Given the description of an element on the screen output the (x, y) to click on. 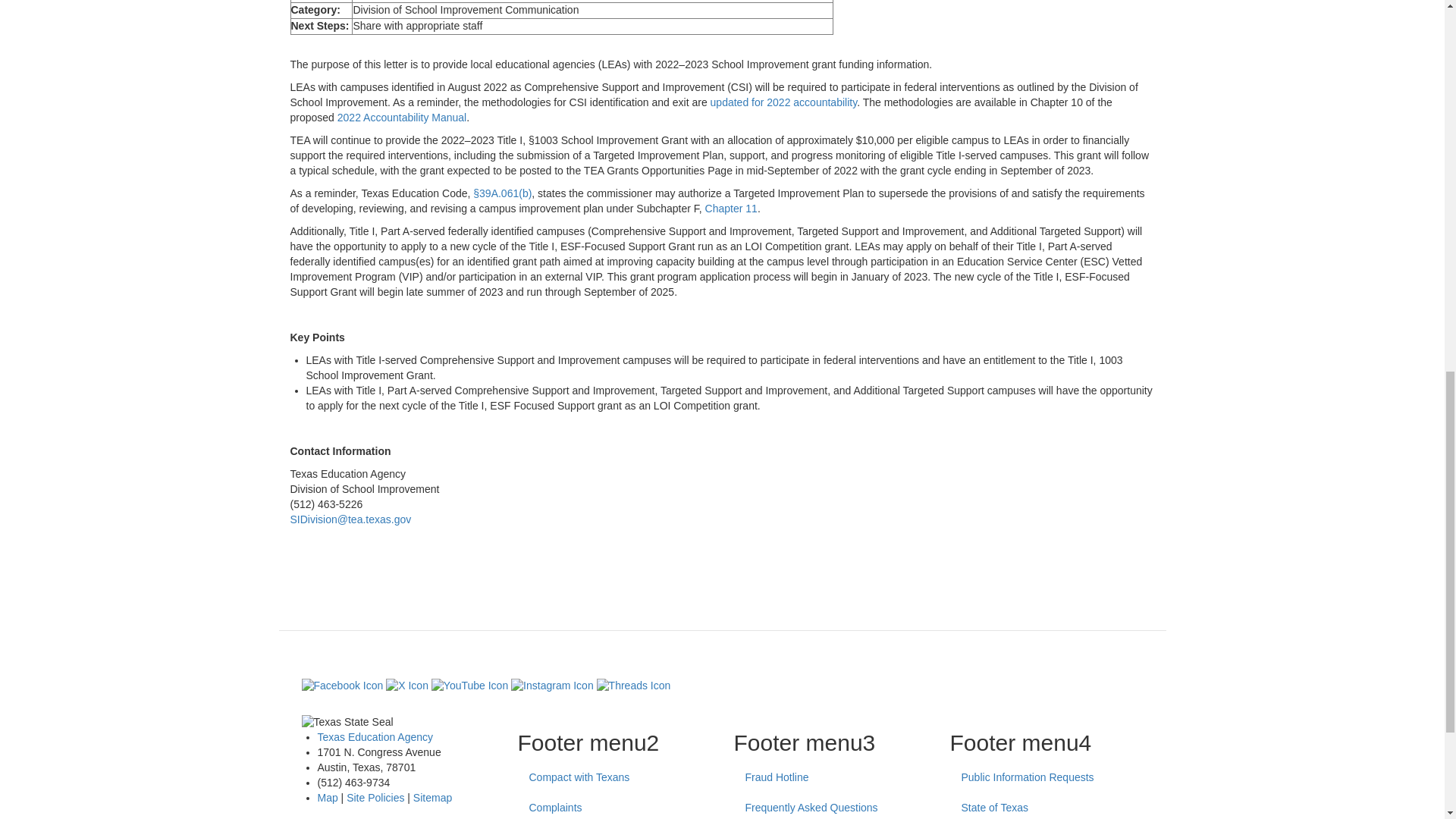
YouTube (469, 685)
Threads (633, 685)
updated for 2022 accountability (783, 102)
Instagram (552, 685)
Sitemap (432, 797)
X (406, 685)
The methodologies are available in Chapter 10 on this page (401, 117)
Map (327, 797)
Facebook (342, 685)
Chapter 11 (730, 208)
Texas State Seal (398, 722)
Site Policies (375, 797)
